Given the description of an element on the screen output the (x, y) to click on. 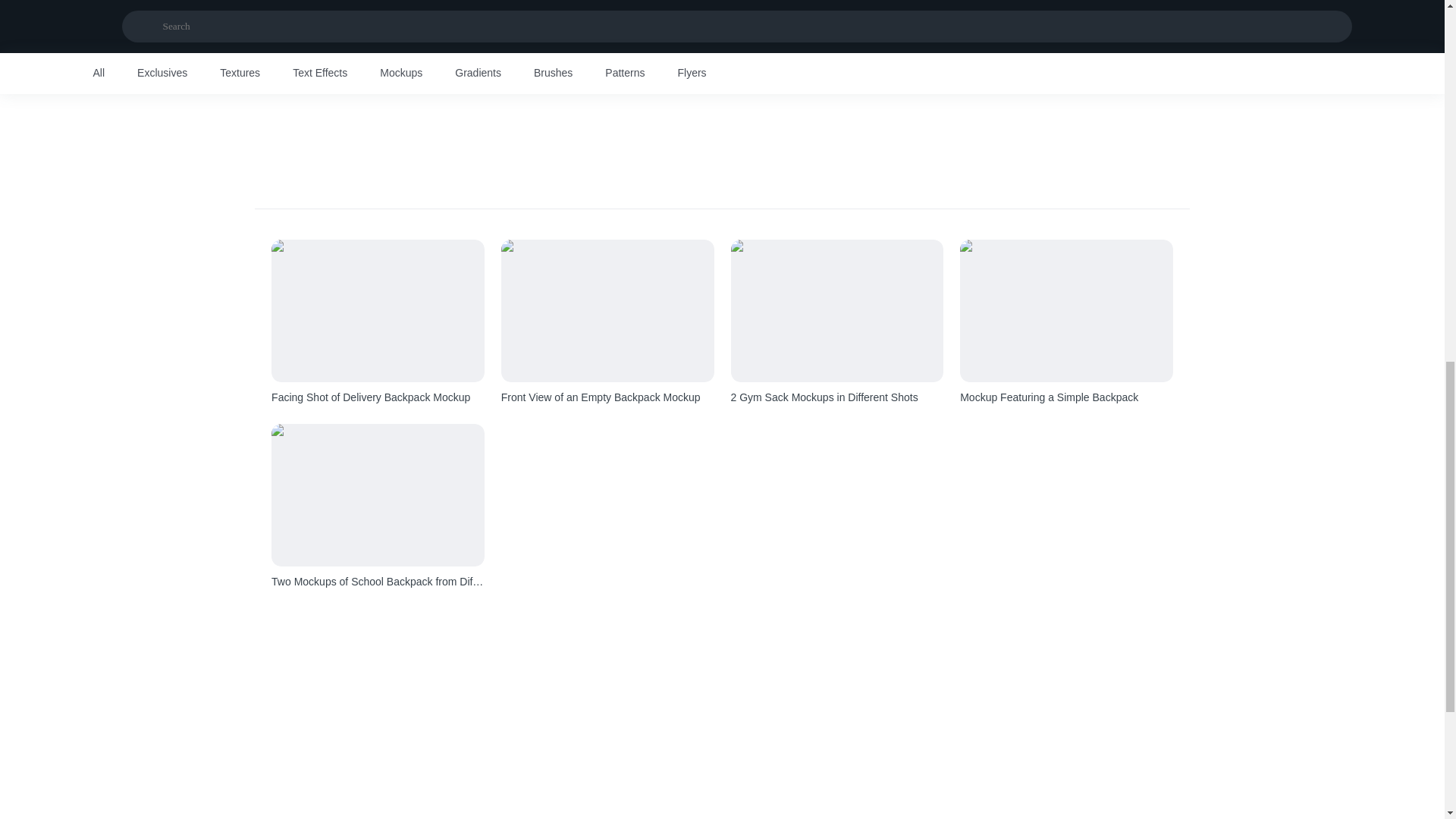
Front View of an Empty Backpack Mockup (607, 397)
Facing Shot of Delivery Backpack Mockup (377, 397)
2 Gym Sack Mockups in Different Shots (836, 397)
